Given the description of an element on the screen output the (x, y) to click on. 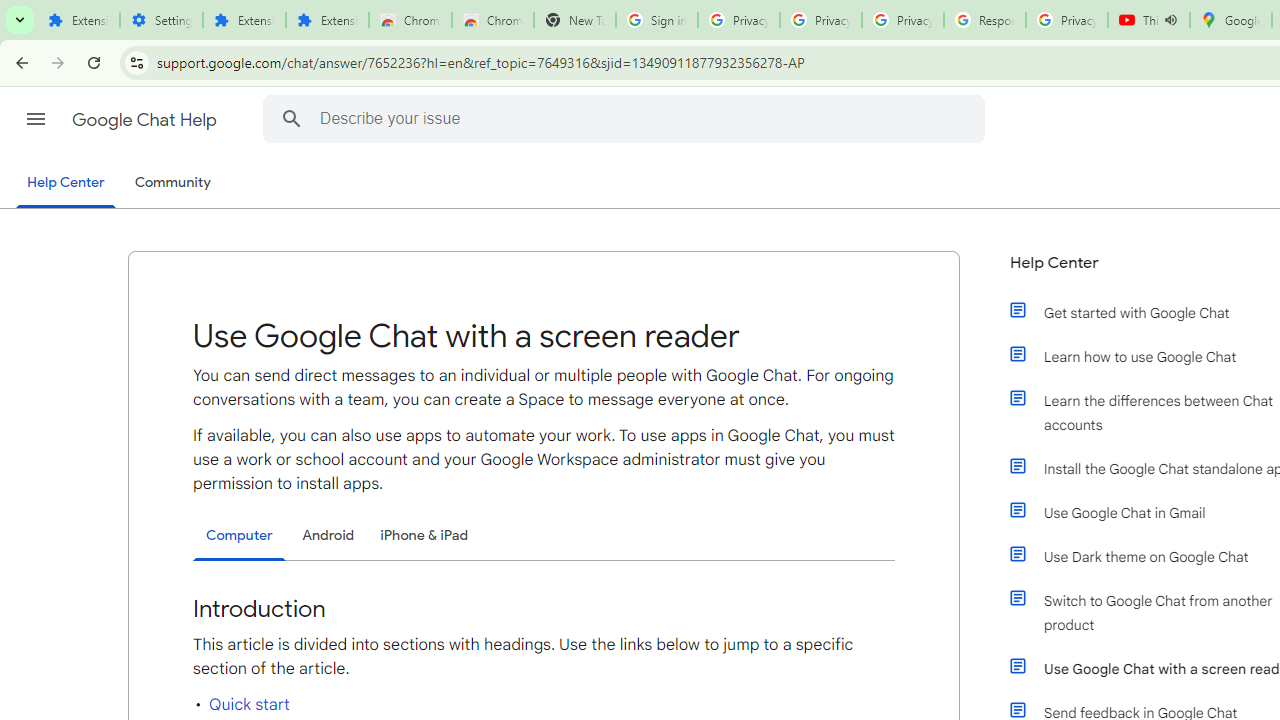
Extensions (78, 20)
Describe your issue (626, 118)
Chrome Web Store - Themes (492, 20)
Sign in - Google Accounts (656, 20)
Search Help Center (291, 118)
Chrome Web Store (409, 20)
Extensions (326, 20)
